Given the description of an element on the screen output the (x, y) to click on. 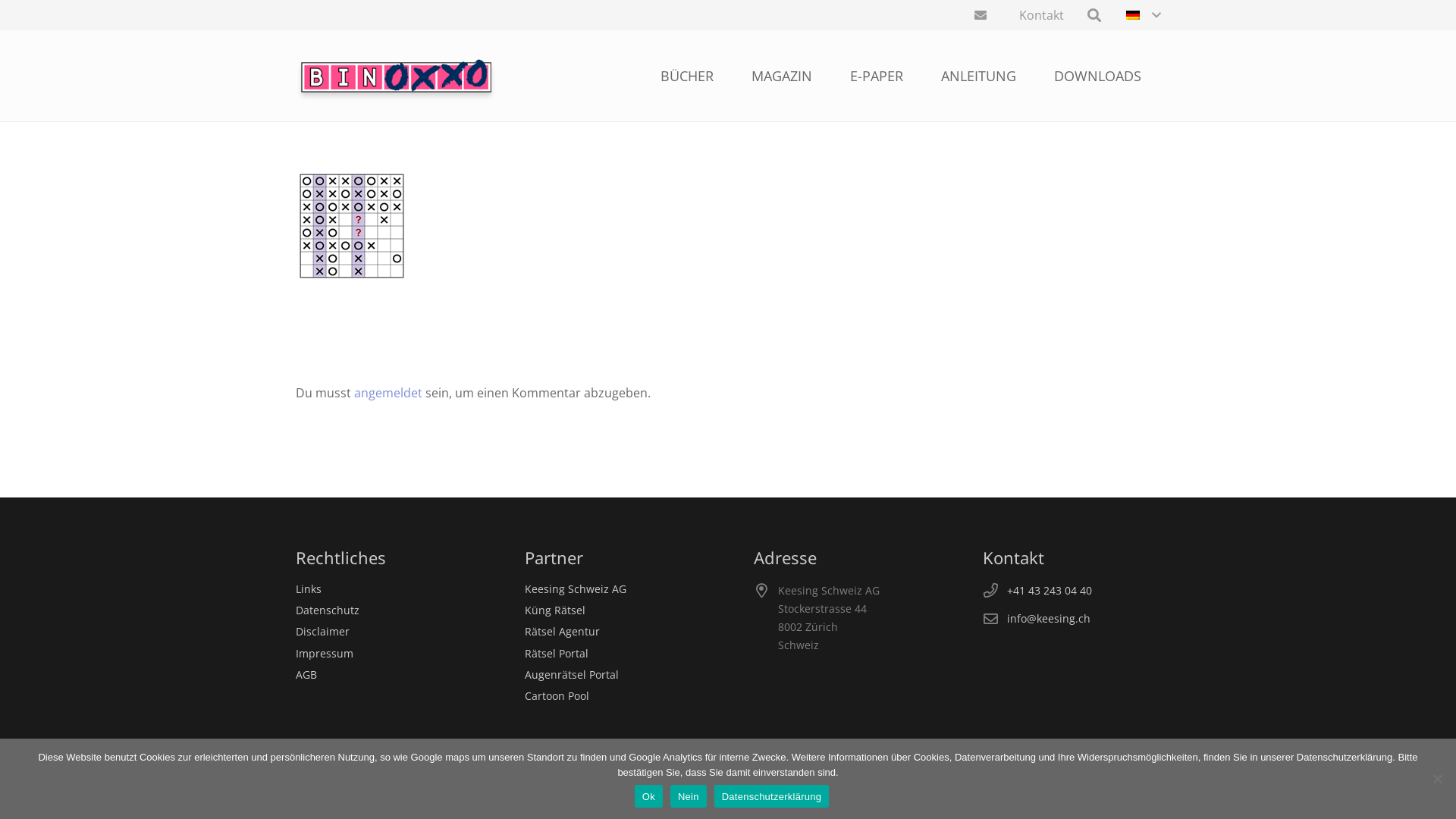
Impressum Element type: text (324, 653)
ANLEITUNG Element type: text (978, 75)
Kontakt Element type: text (1041, 15)
+41 43 243 04 40 Element type: text (1049, 590)
Keesing Schweiz AG Element type: text (575, 588)
Datenschutz Element type: text (327, 609)
angemeldet Element type: text (388, 392)
info@keesing.ch Element type: text (1048, 618)
Ok Element type: text (648, 795)
DOWNLOADS Element type: text (1097, 75)
Disclaimer Element type: text (322, 631)
E-PAPER Element type: text (876, 75)
AGB Element type: text (305, 674)
Nein Element type: text (688, 795)
Cartoon Pool Element type: text (556, 695)
Links Element type: text (308, 588)
MAGAZIN Element type: text (781, 75)
